Given the description of an element on the screen output the (x, y) to click on. 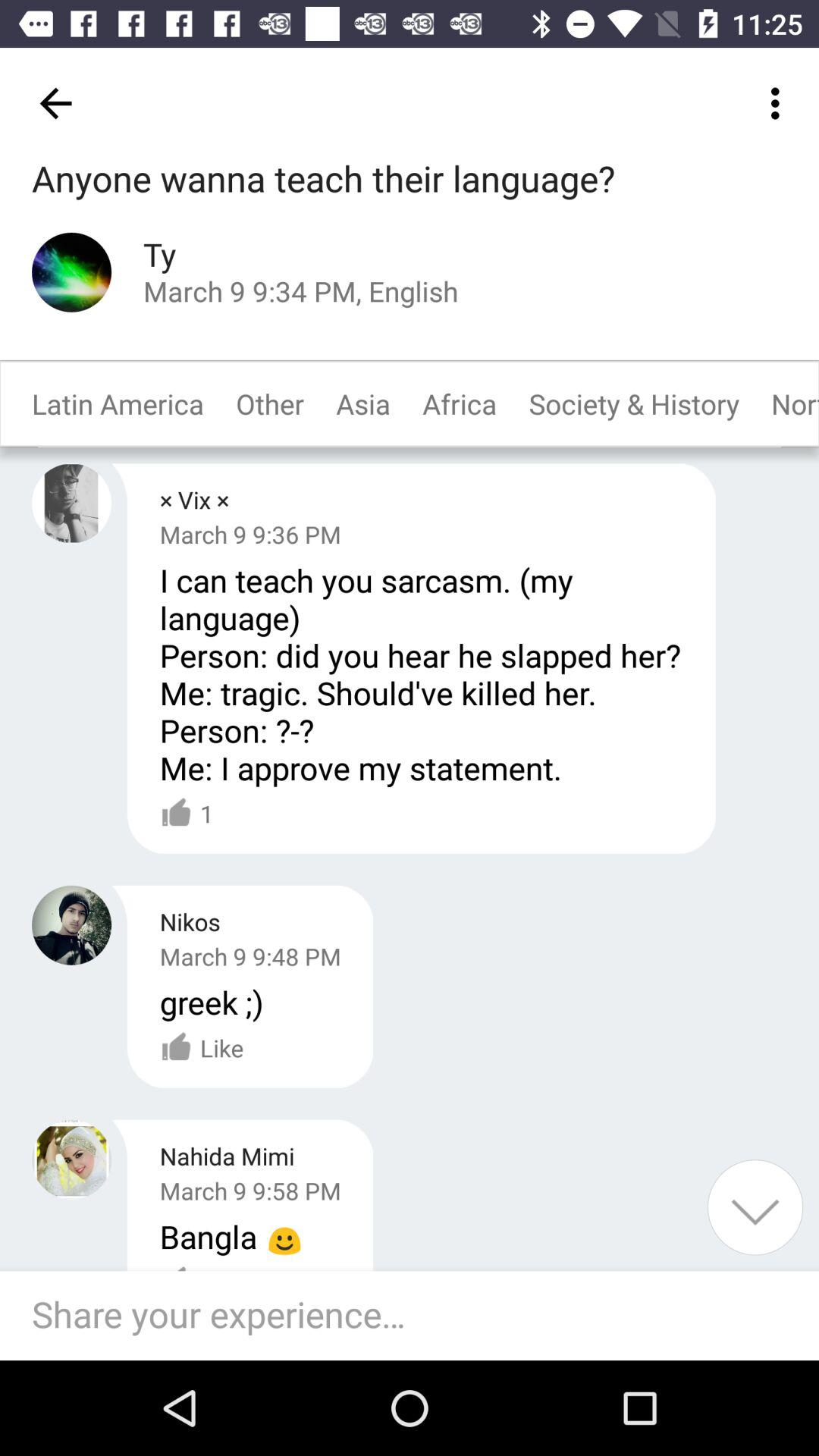
turn off the icon below march 9 9 icon (211, 1001)
